Given the description of an element on the screen output the (x, y) to click on. 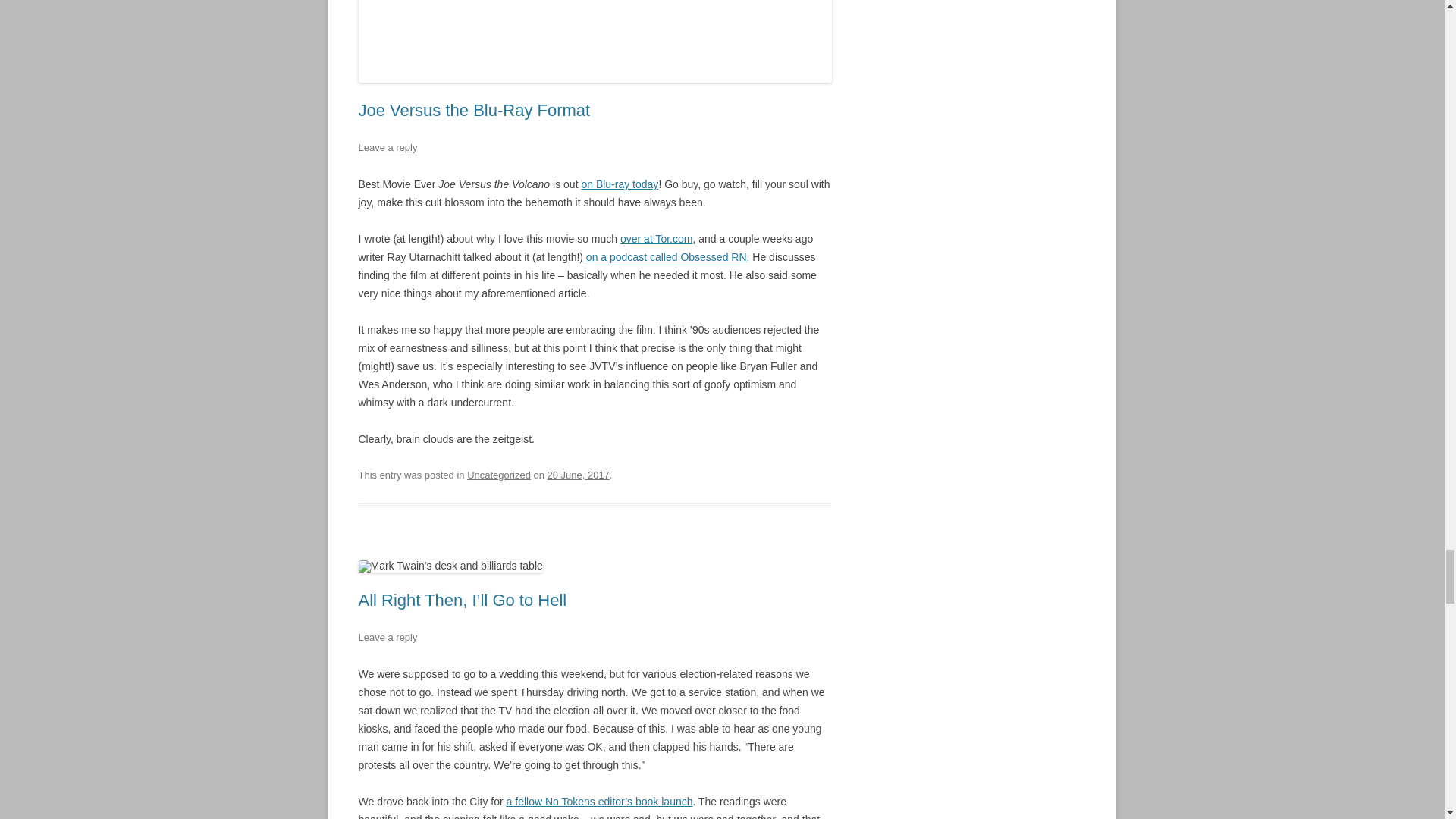
1:55 pm (578, 474)
